Given the description of an element on the screen output the (x, y) to click on. 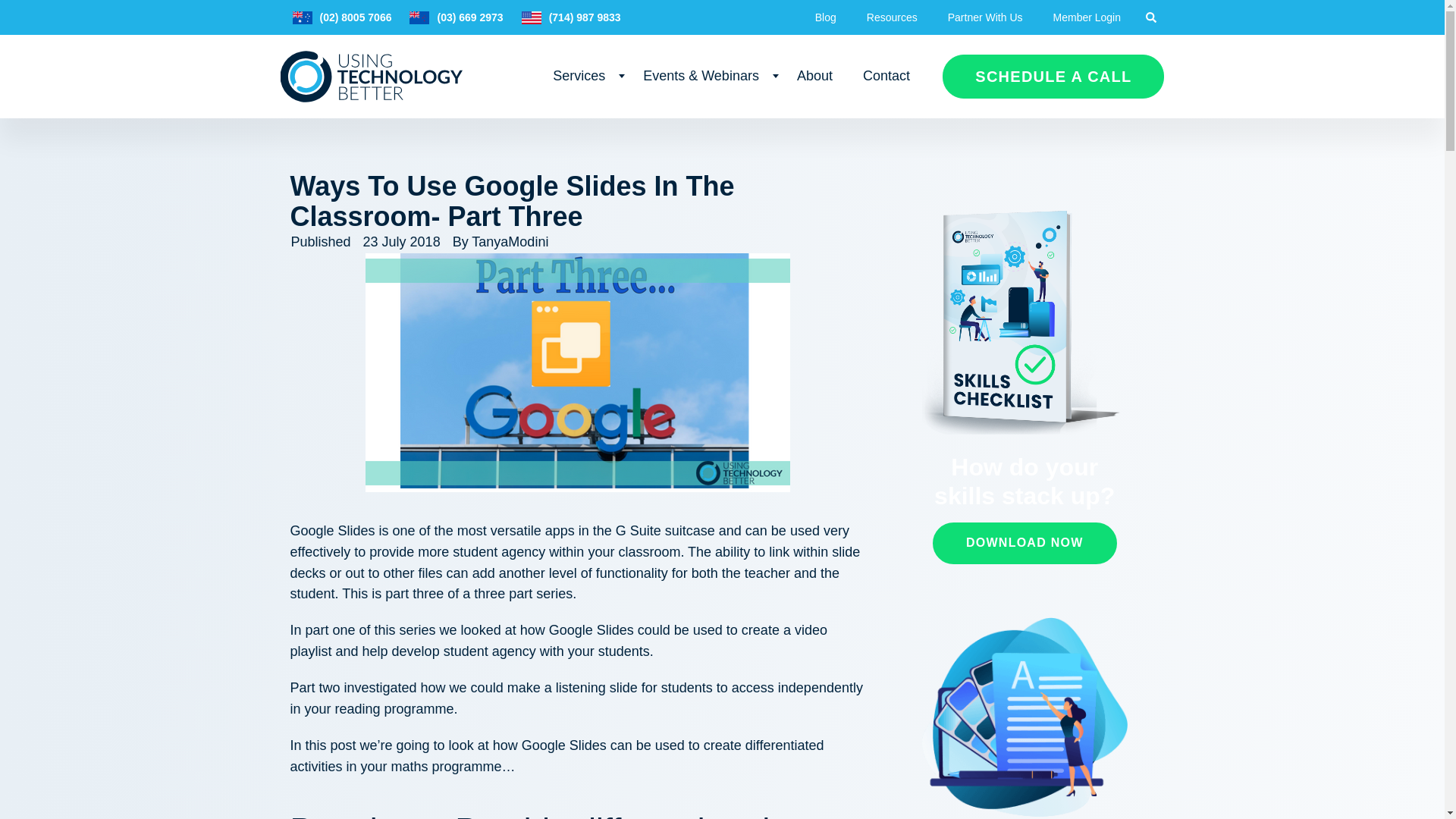
Blog (825, 17)
Services (582, 76)
About (814, 76)
Resources (892, 17)
Contact (885, 76)
Partner With Us (985, 17)
SCHEDULE A CALL (1052, 76)
Member Login (1087, 17)
